Given the description of an element on the screen output the (x, y) to click on. 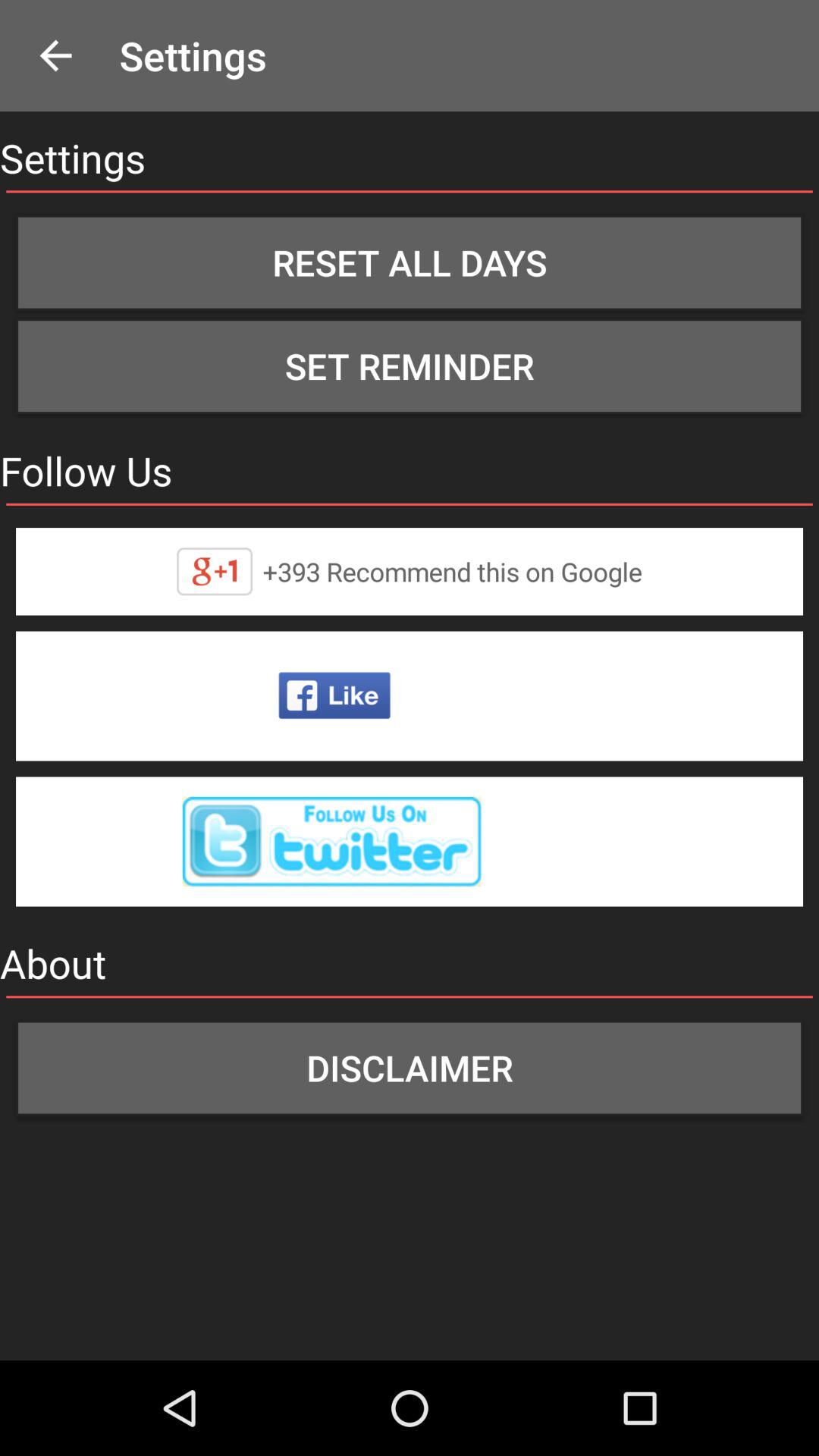
select icon next to the settings (55, 55)
